Given the description of an element on the screen output the (x, y) to click on. 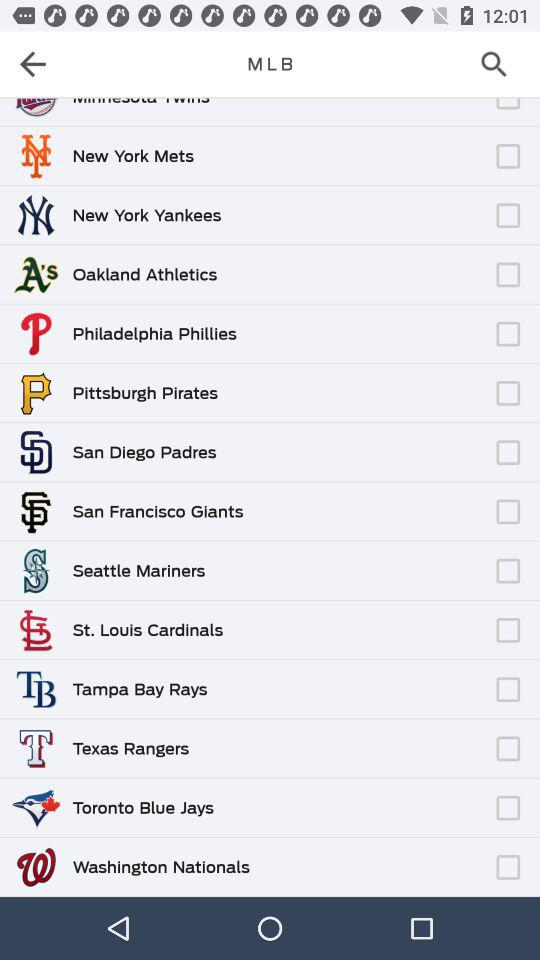
press the minnesota twins icon (140, 102)
